Given the description of an element on the screen output the (x, y) to click on. 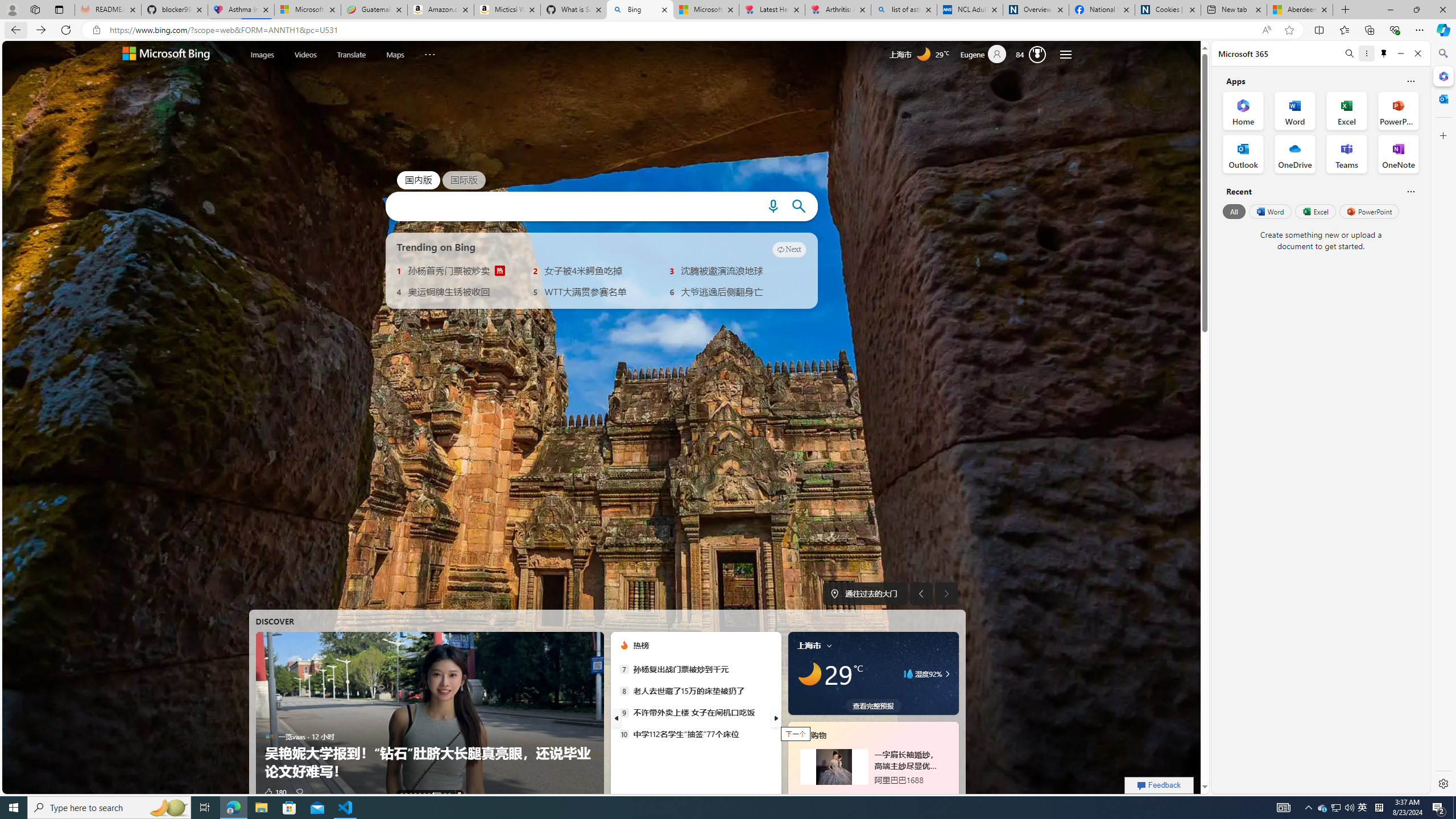
Videos (305, 54)
Eugene (987, 54)
tab-7 (872, 795)
Translate (351, 54)
AutomationID: tab-7 (436, 793)
